Given the description of an element on the screen output the (x, y) to click on. 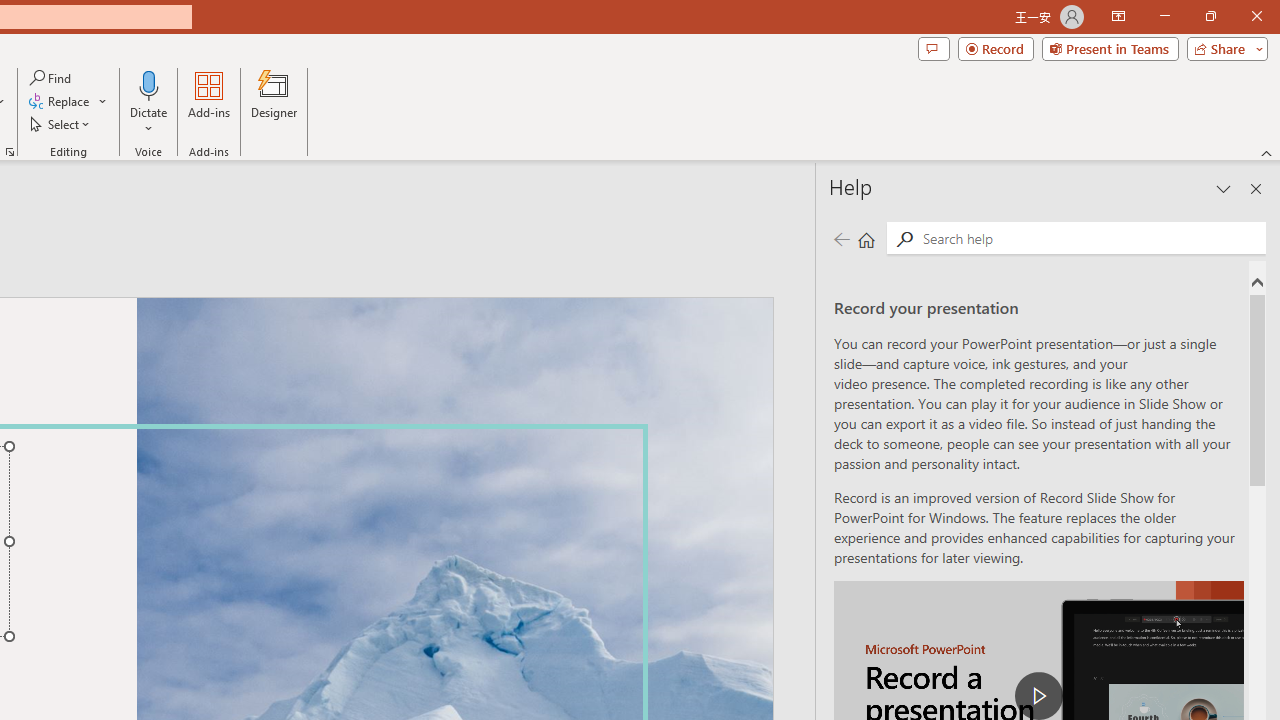
Replace... (60, 101)
Dictate (149, 102)
Dictate (149, 84)
Format Object... (9, 151)
Find... (51, 78)
Replace... (68, 101)
Previous page (841, 238)
